Given the description of an element on the screen output the (x, y) to click on. 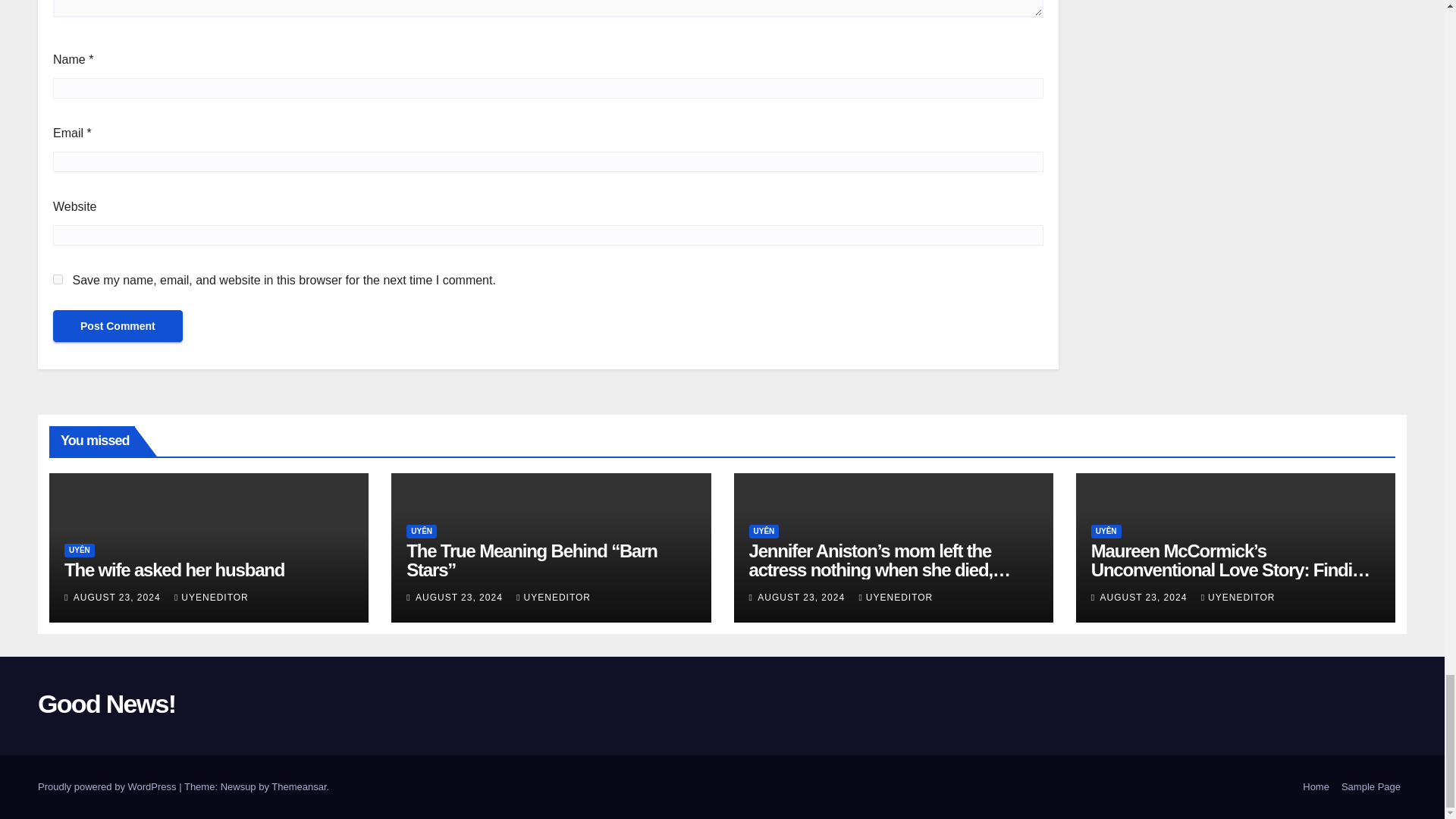
yes (57, 279)
Post Comment (117, 326)
Post Comment (117, 326)
Permalink to: The wife asked her husband (173, 569)
